Given the description of an element on the screen output the (x, y) to click on. 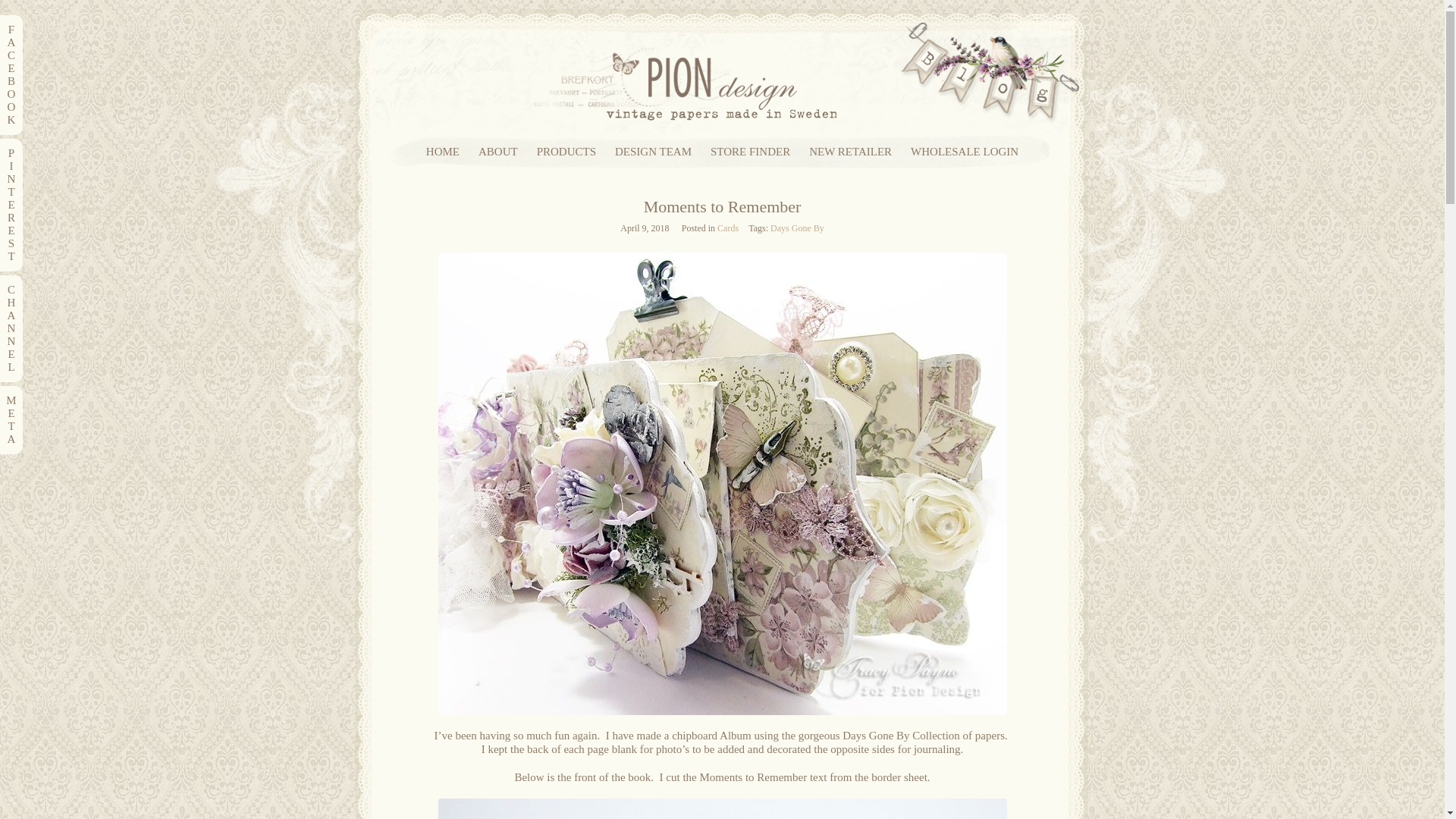
ABOUT (498, 152)
NEW RETAILER (850, 152)
Days Gone By (797, 227)
Pion Design's Blog (721, 122)
WHOLESALE LOGIN (964, 152)
PRODUCTS (566, 152)
DESIGN TEAM (652, 152)
Cards (727, 227)
STORE FINDER (750, 152)
HOME (443, 152)
